Given the description of an element on the screen output the (x, y) to click on. 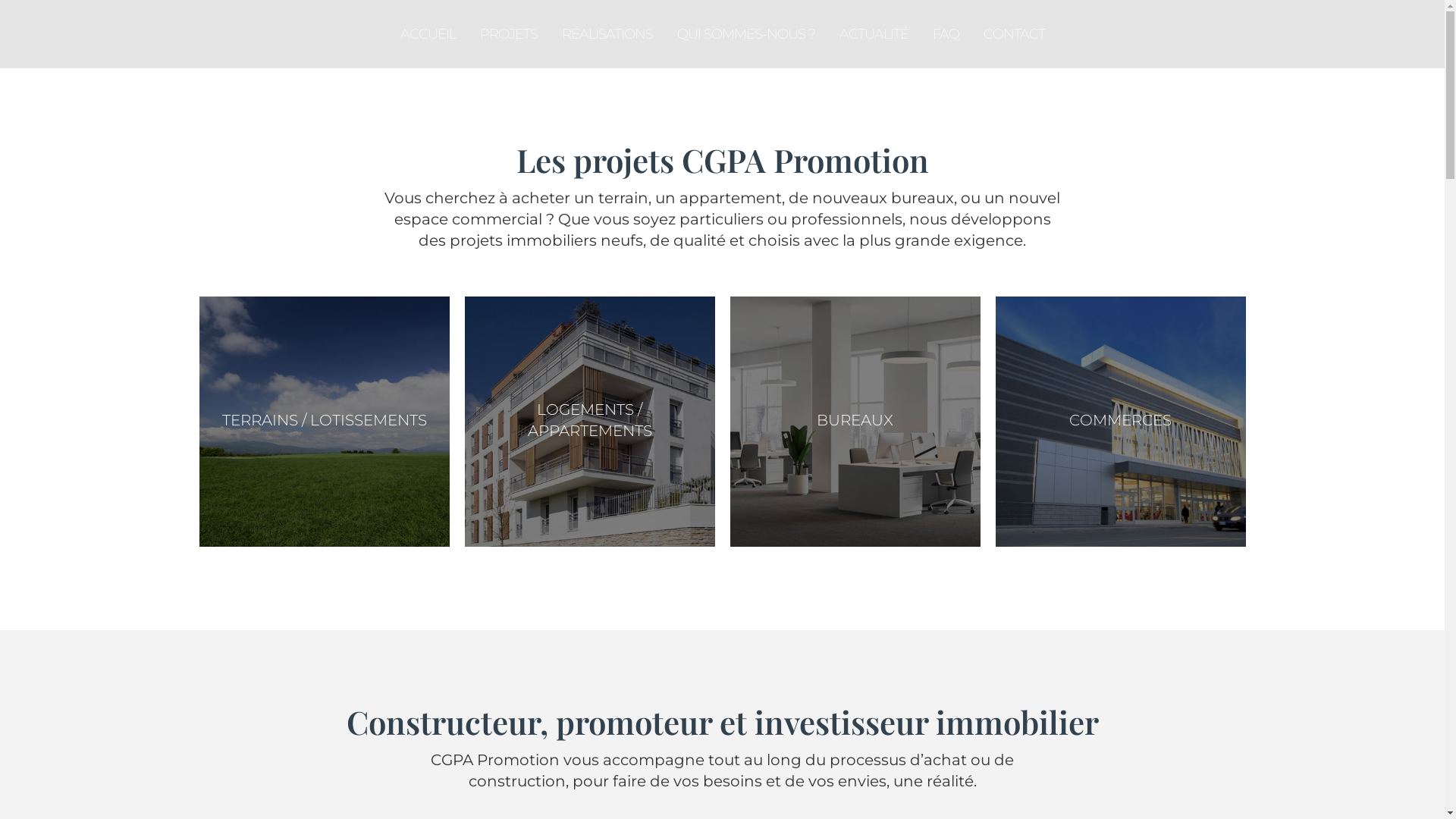
ACCUEIL Element type: text (427, 34)
QUI SOMMES-NOUS ? Element type: text (745, 34)
COMMERCES Element type: text (1120, 420)
TERRAINS / LOTISSEMENTS Element type: text (323, 420)
FAQ Element type: text (945, 34)
CONTACT Element type: text (1013, 34)
PROJETS Element type: text (507, 34)
LOGEMENTS / APPARTEMENTS Element type: text (589, 419)
BUREAUX Element type: text (854, 420)
